Given the description of an element on the screen output the (x, y) to click on. 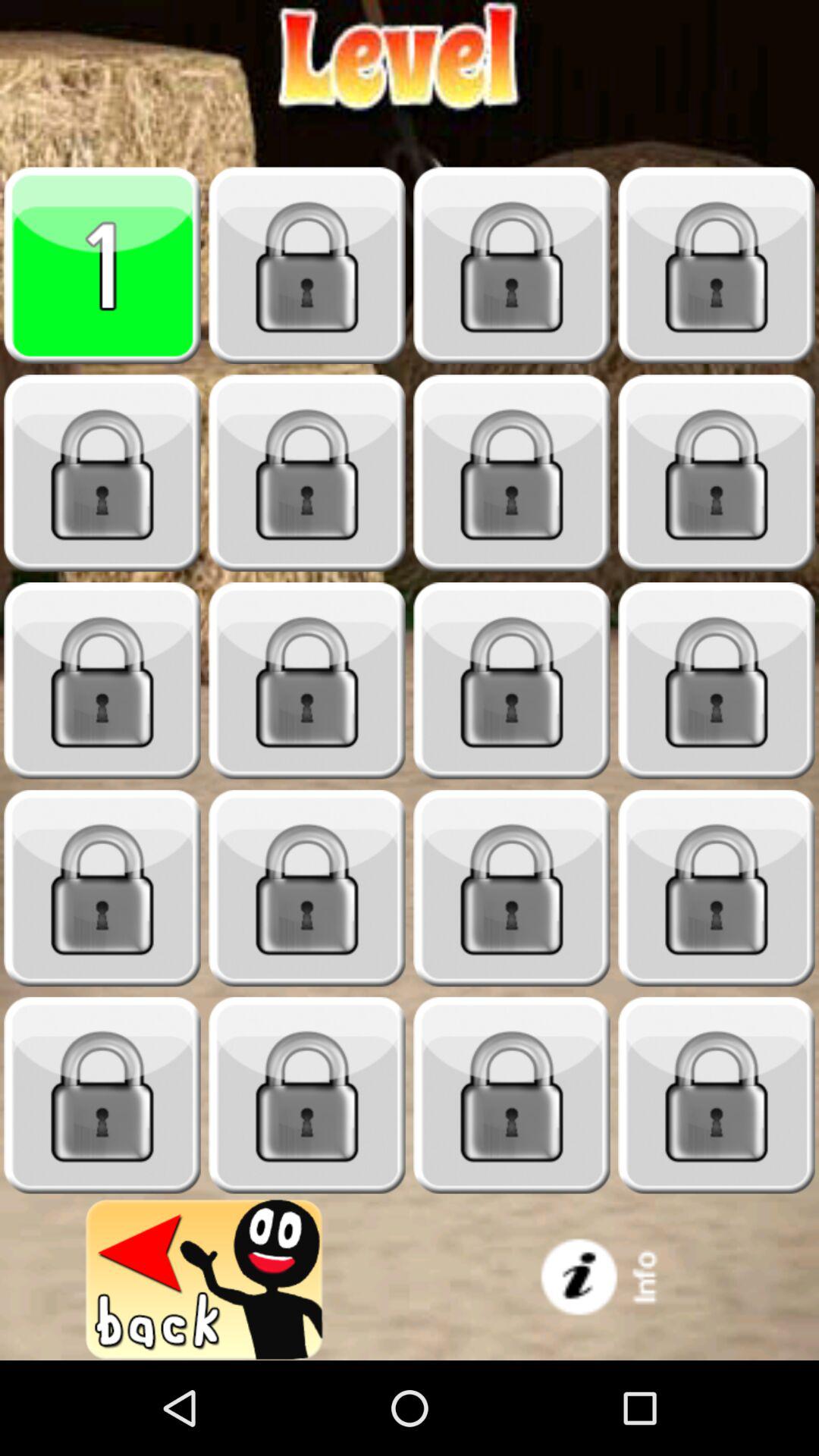
unlock level 4 (716, 265)
